Given the description of an element on the screen output the (x, y) to click on. 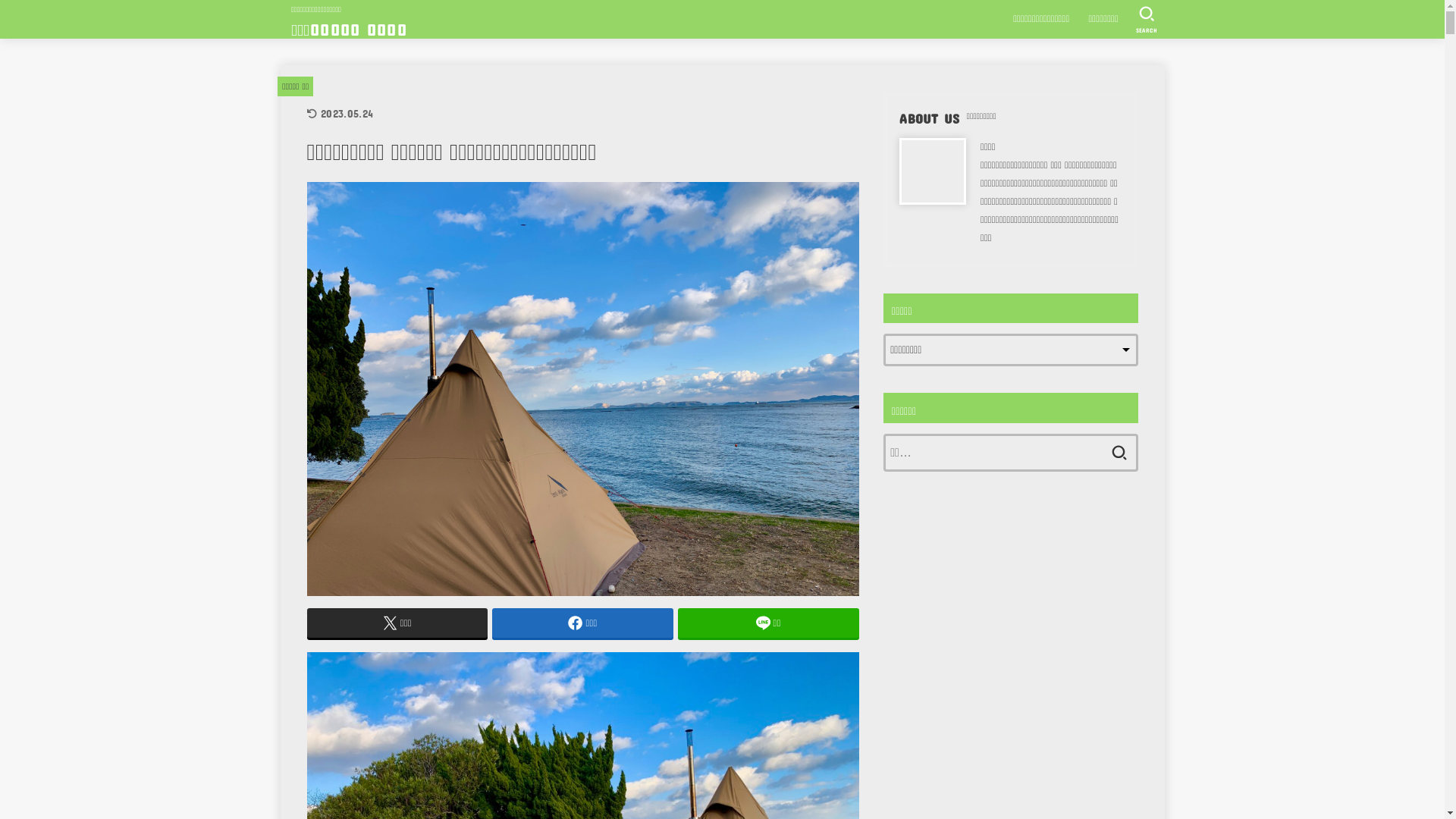
SEARCH Element type: text (1146, 19)
